Given the description of an element on the screen output the (x, y) to click on. 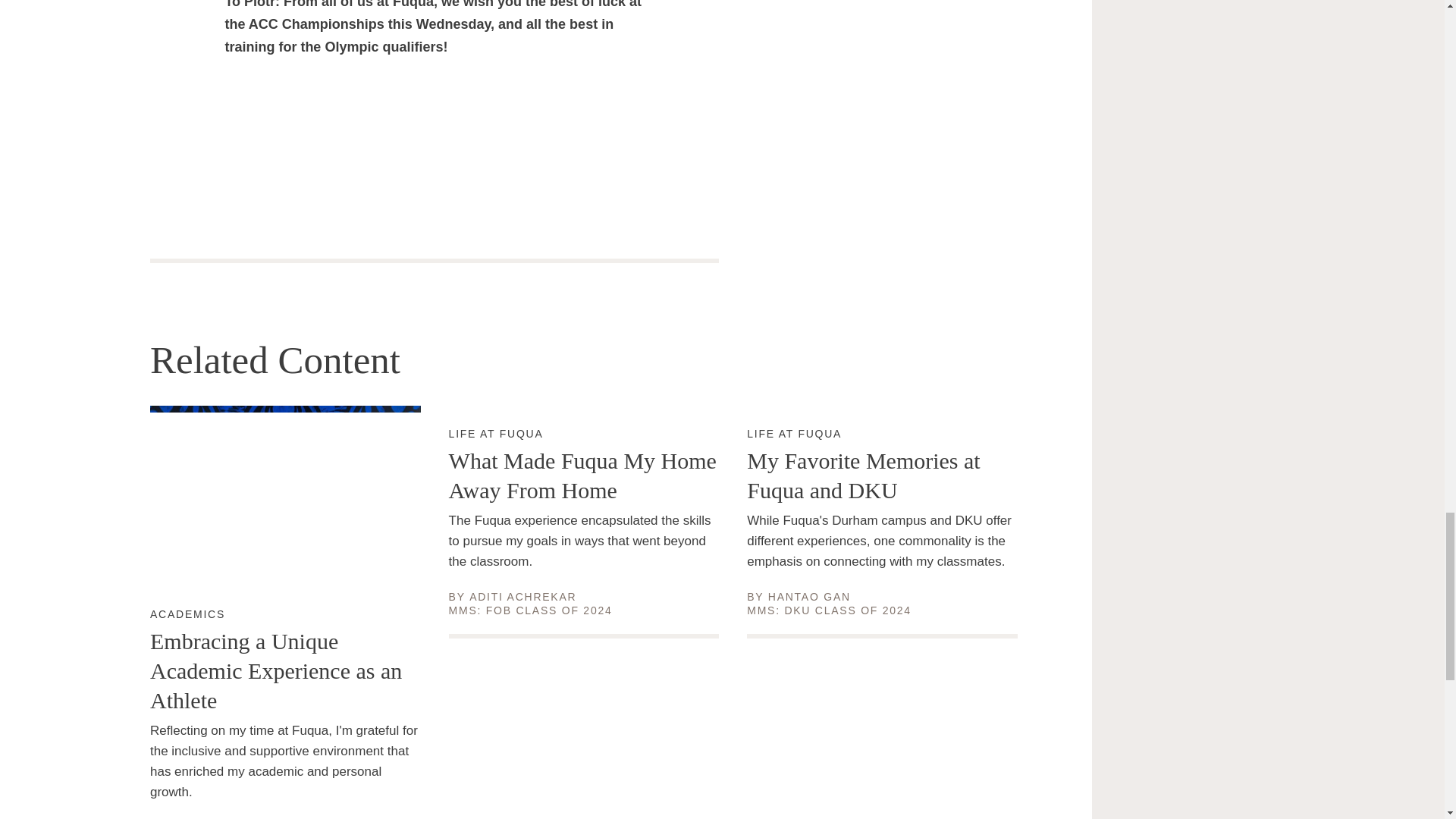
What Made Fuqua My Home Away From Home (495, 434)
Embracing a Unique Academic Experience as an Athlete (583, 475)
My Favorite Memories at Fuqua and DKU (809, 596)
